Given the description of an element on the screen output the (x, y) to click on. 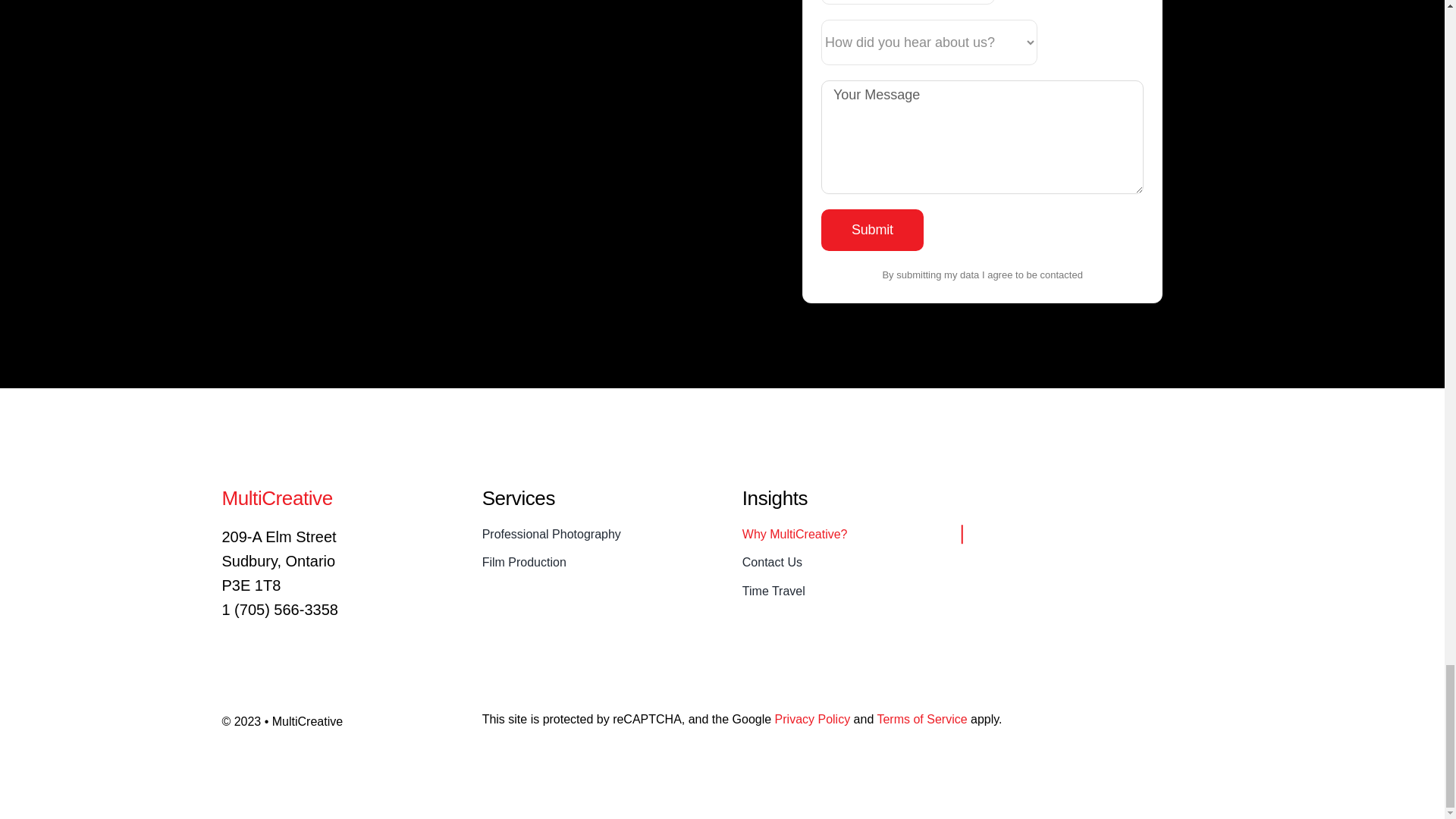
Submit (872, 229)
MultiCreative (276, 497)
Submit (872, 229)
Professional Photography (592, 534)
